Given the description of an element on the screen output the (x, y) to click on. 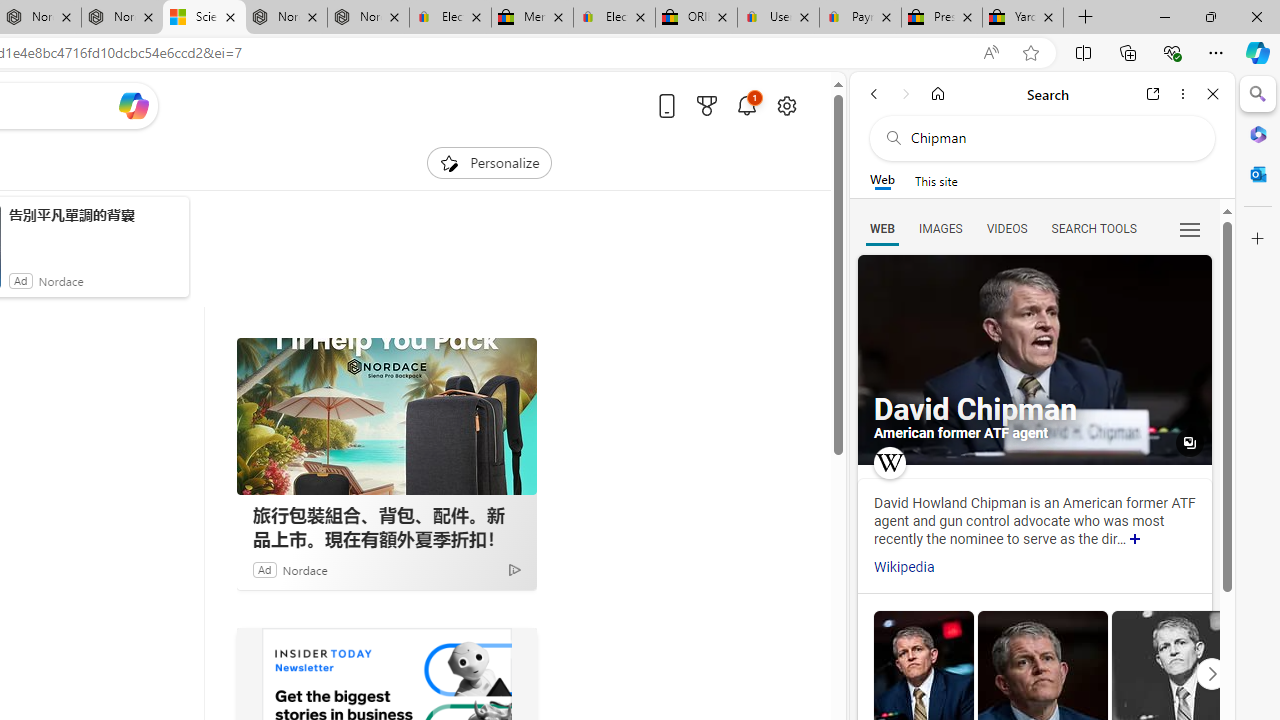
Show more (1135, 539)
